Given the description of an element on the screen output the (x, y) to click on. 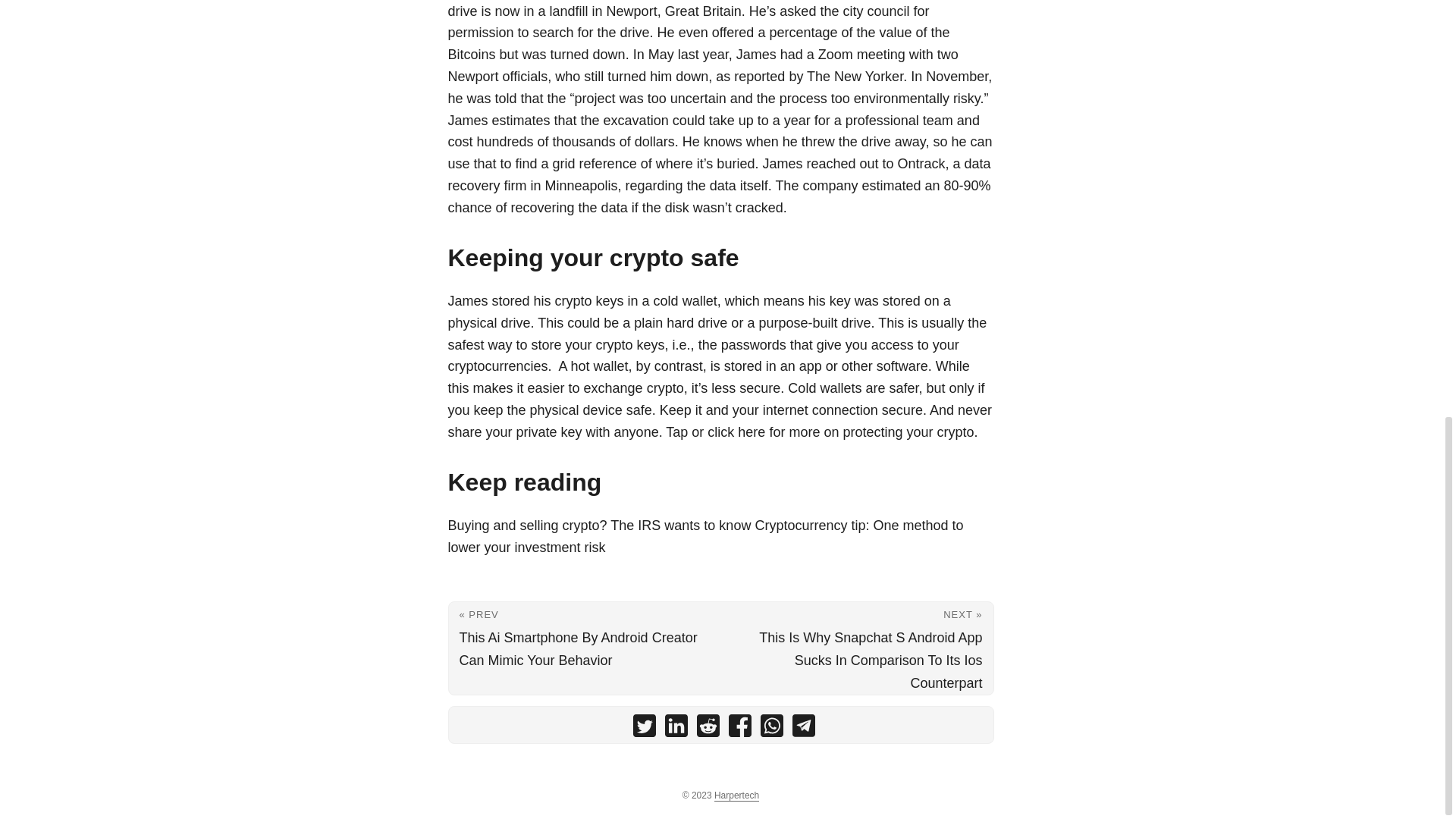
Harpertech (736, 795)
